Given the description of an element on the screen output the (x, y) to click on. 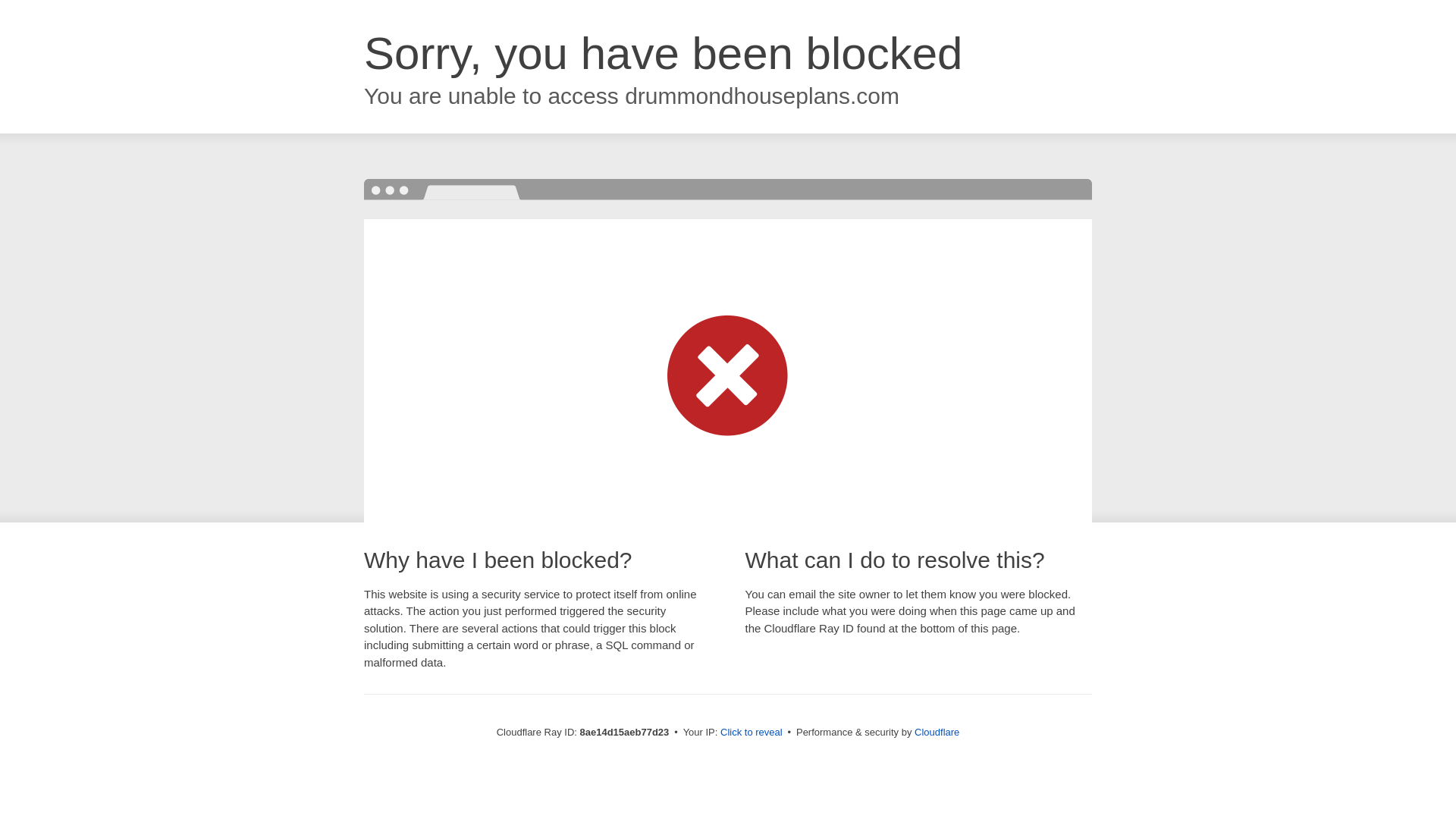
Cloudflare (936, 731)
Click to reveal (751, 732)
